Given the description of an element on the screen output the (x, y) to click on. 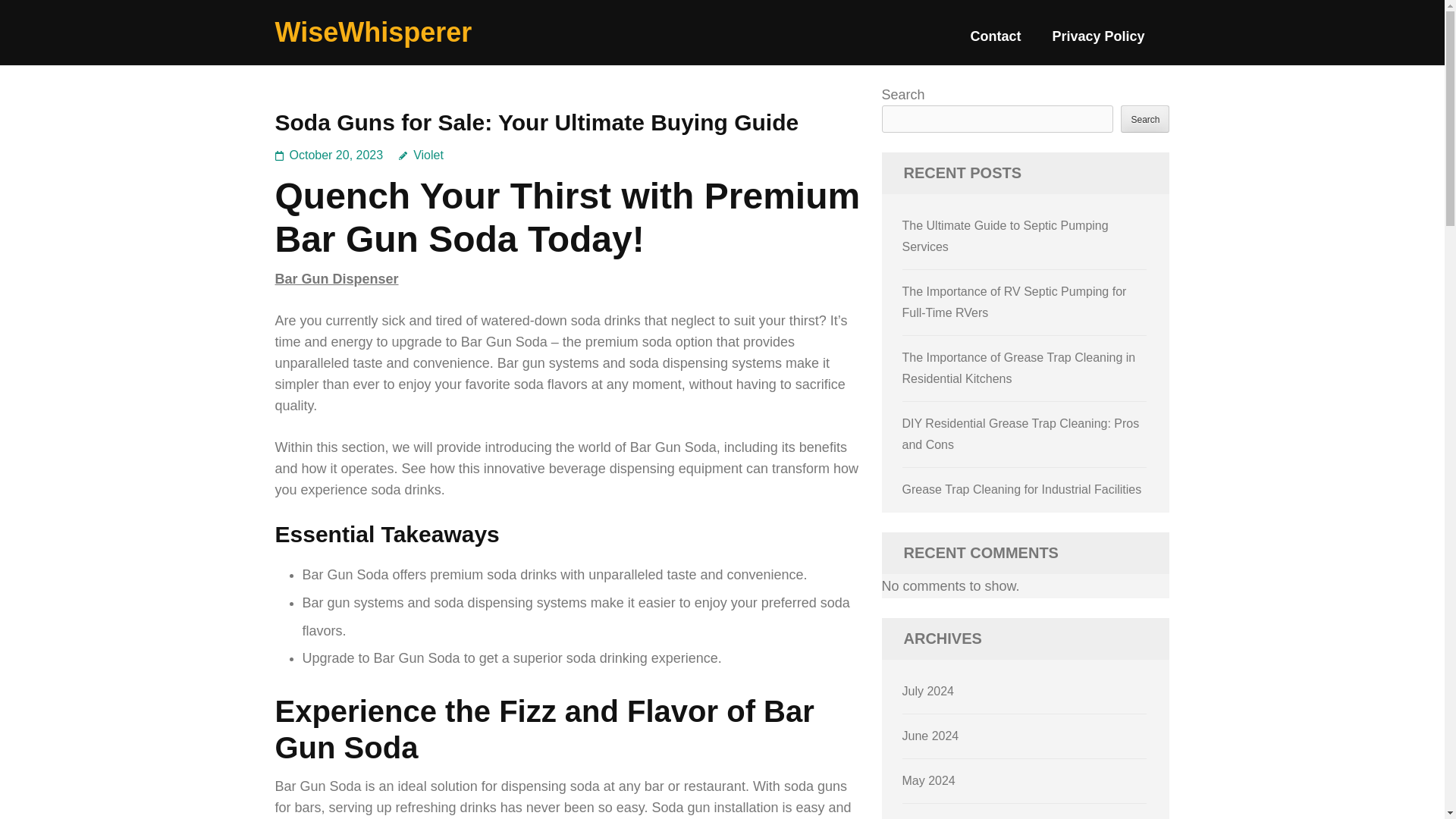
June 2024 (930, 735)
Grease Trap Cleaning for Industrial Facilities (1021, 489)
Privacy Policy (1097, 42)
May 2024 (928, 780)
The Ultimate Guide to Septic Pumping Services (1005, 236)
Bar Gun Dispenser (336, 278)
October 20, 2023 (336, 154)
The Importance of RV Septic Pumping for Full-Time RVers (1014, 302)
DIY Residential Grease Trap Cleaning: Pros and Cons (1021, 433)
WiseWhisperer (373, 31)
Search (1145, 118)
July 2024 (928, 690)
Violet (421, 154)
Contact (994, 42)
